Given the description of an element on the screen output the (x, y) to click on. 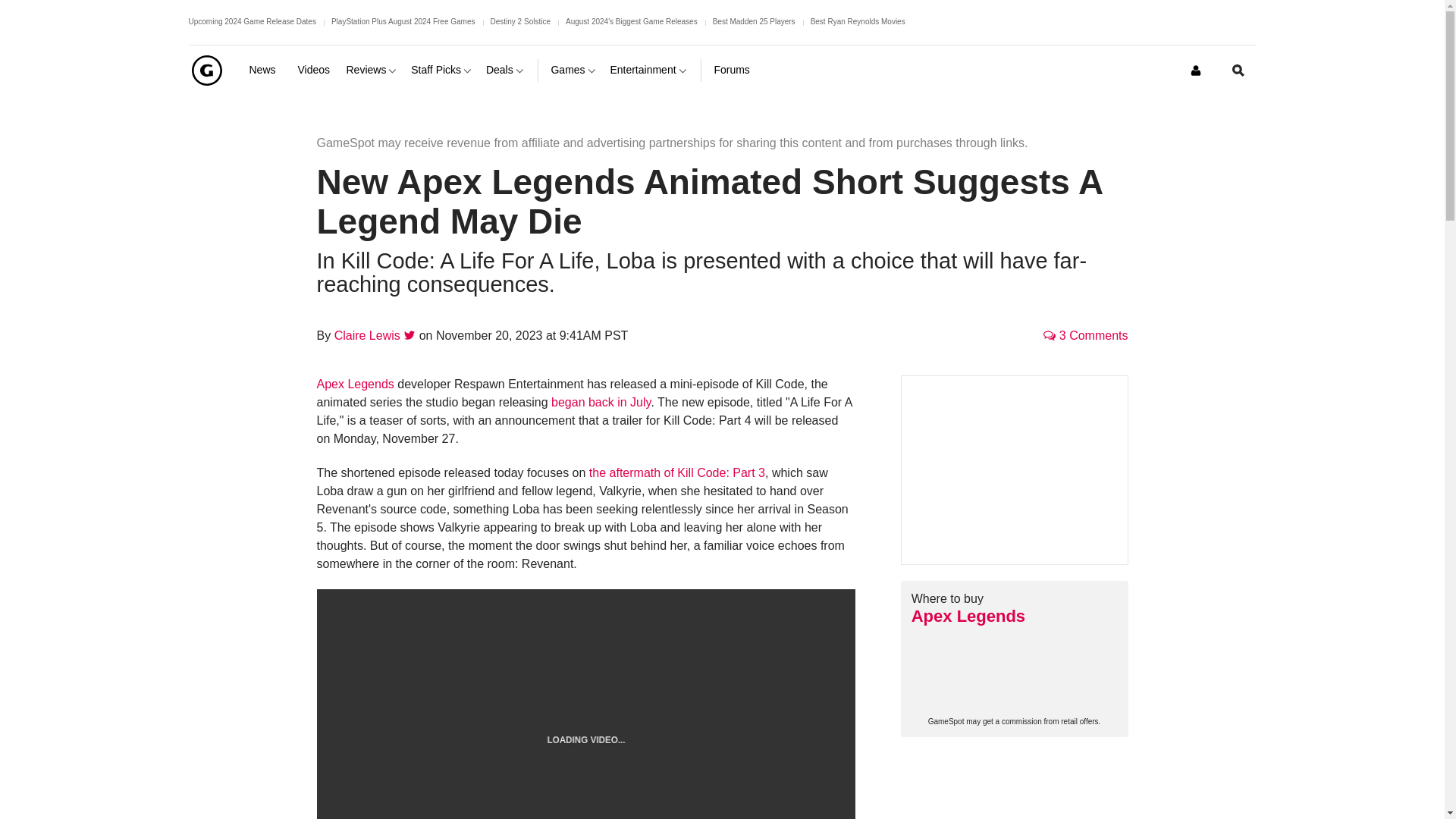
Deals (505, 70)
Videos (315, 70)
Upcoming 2024 Game Release Dates (251, 21)
GameSpot (205, 70)
August 2024's Biggest Game Releases (631, 21)
Best Madden 25 Players (753, 21)
Best Ryan Reynolds Movies (857, 21)
Games (573, 70)
News (266, 70)
